Given the description of an element on the screen output the (x, y) to click on. 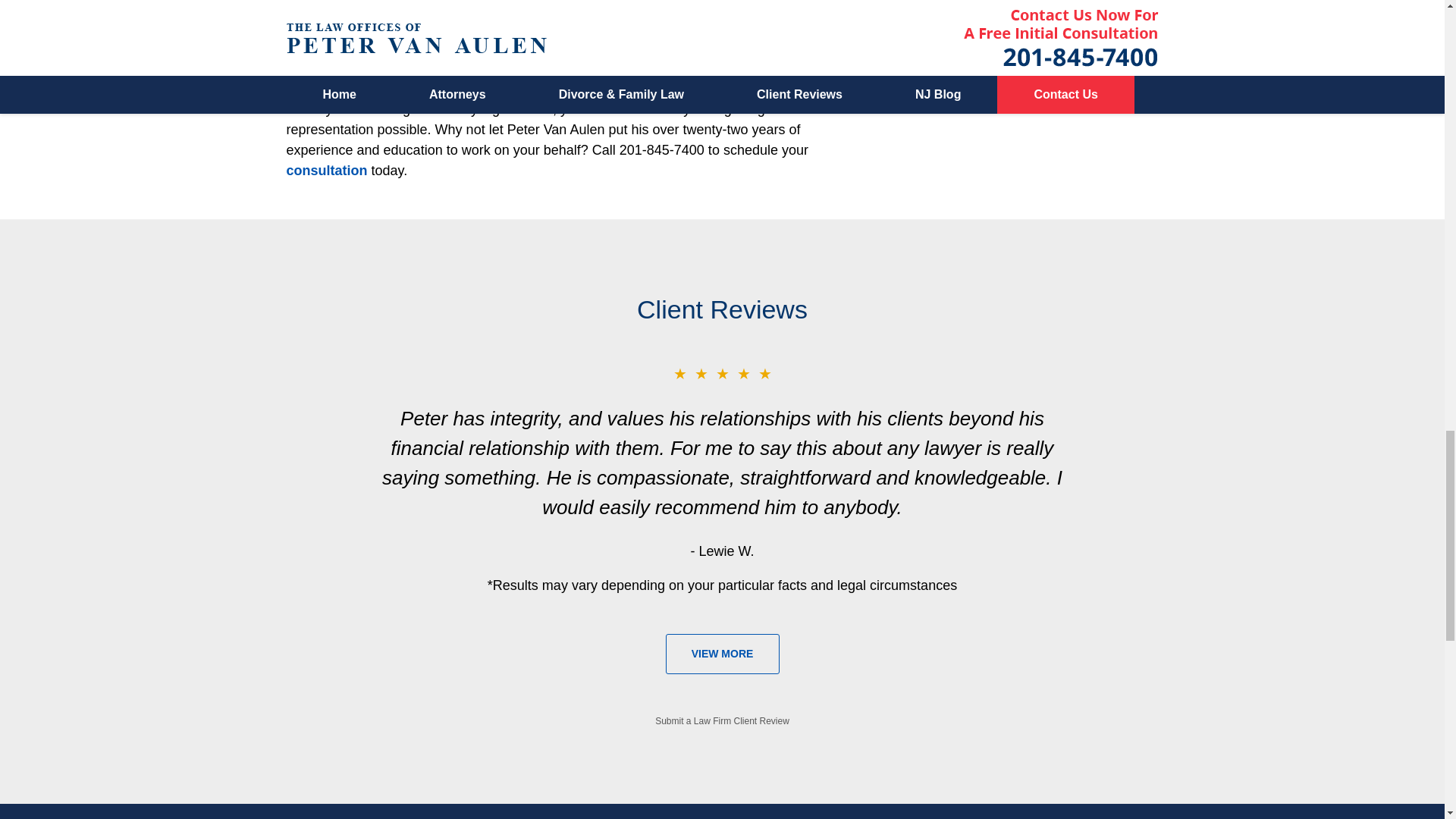
consultation (327, 170)
Submit a Law Firm Client Review (722, 720)
VIEW MORE (721, 653)
